Given the description of an element on the screen output the (x, y) to click on. 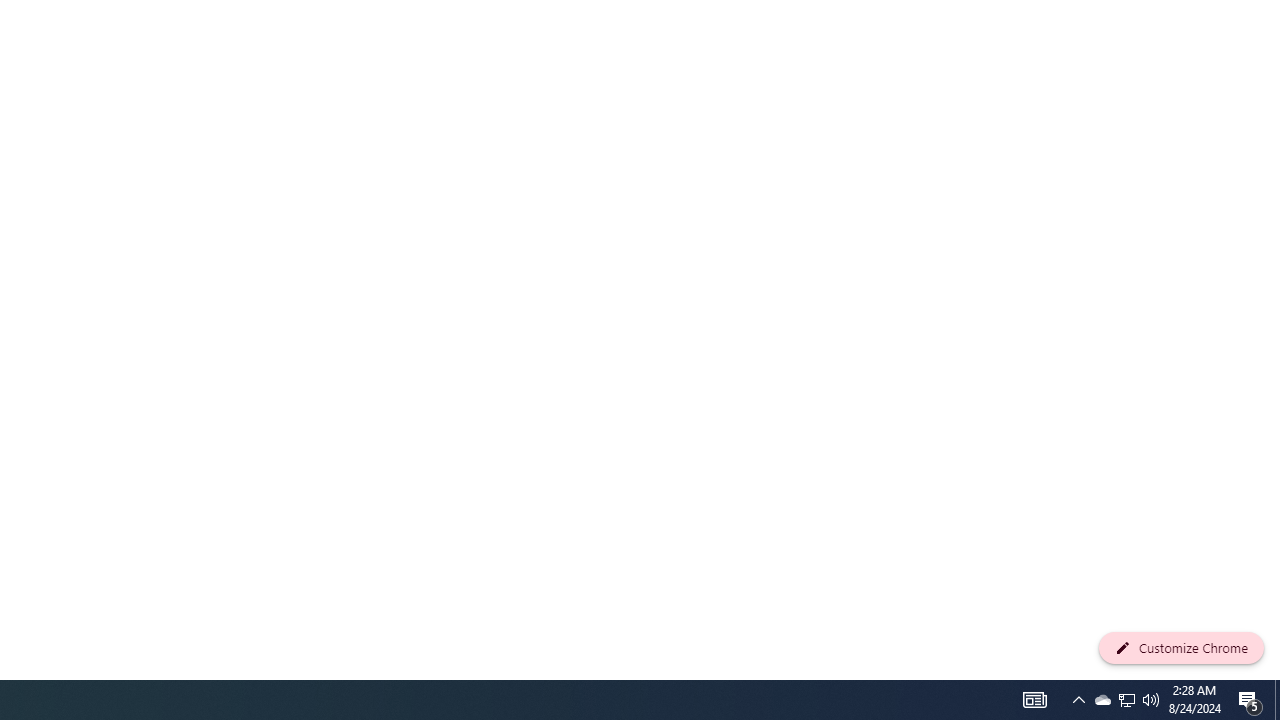
Customize Chrome (1181, 647)
